Given the description of an element on the screen output the (x, y) to click on. 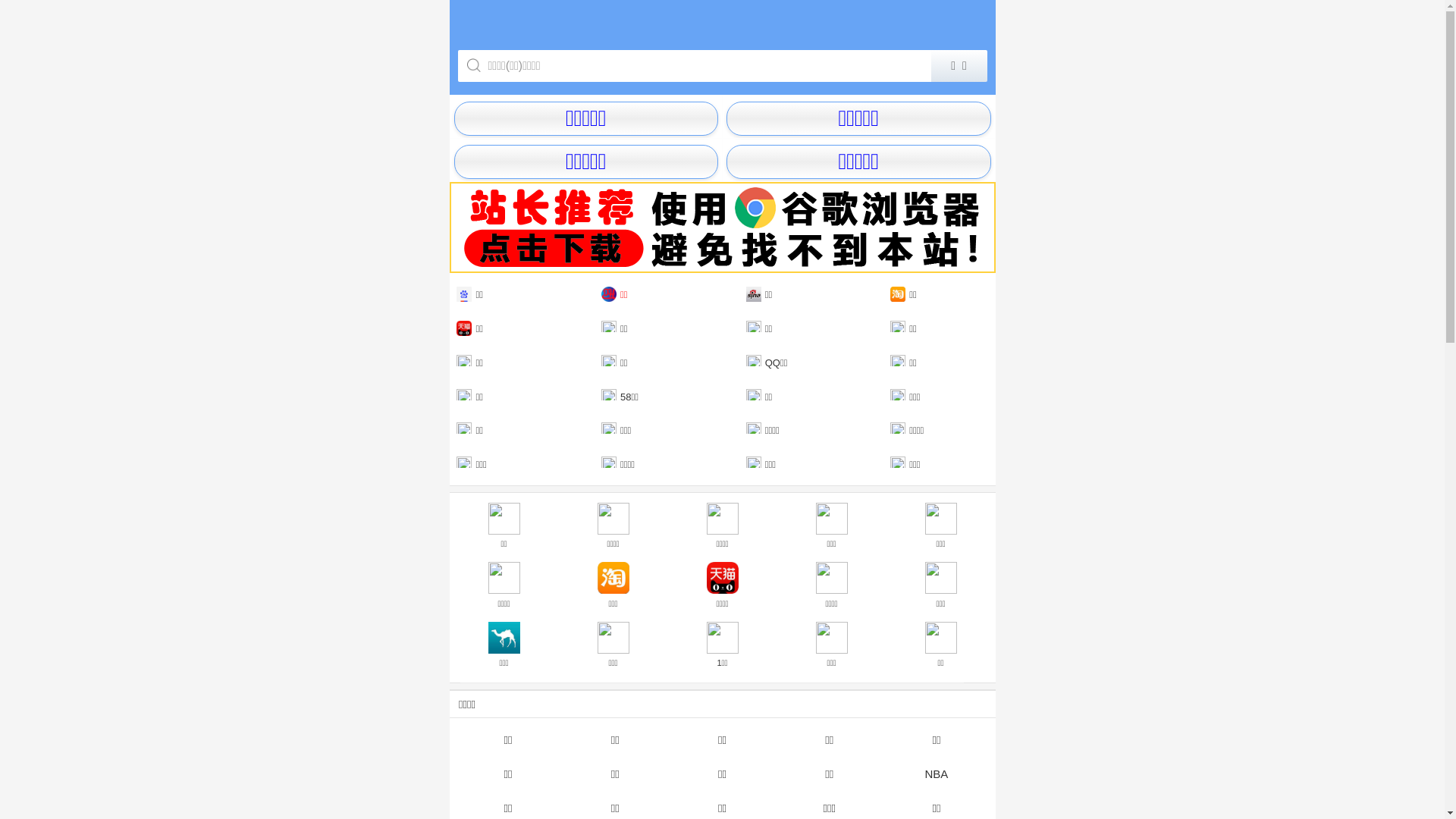
NBA Element type: text (935, 773)
